Given the description of an element on the screen output the (x, y) to click on. 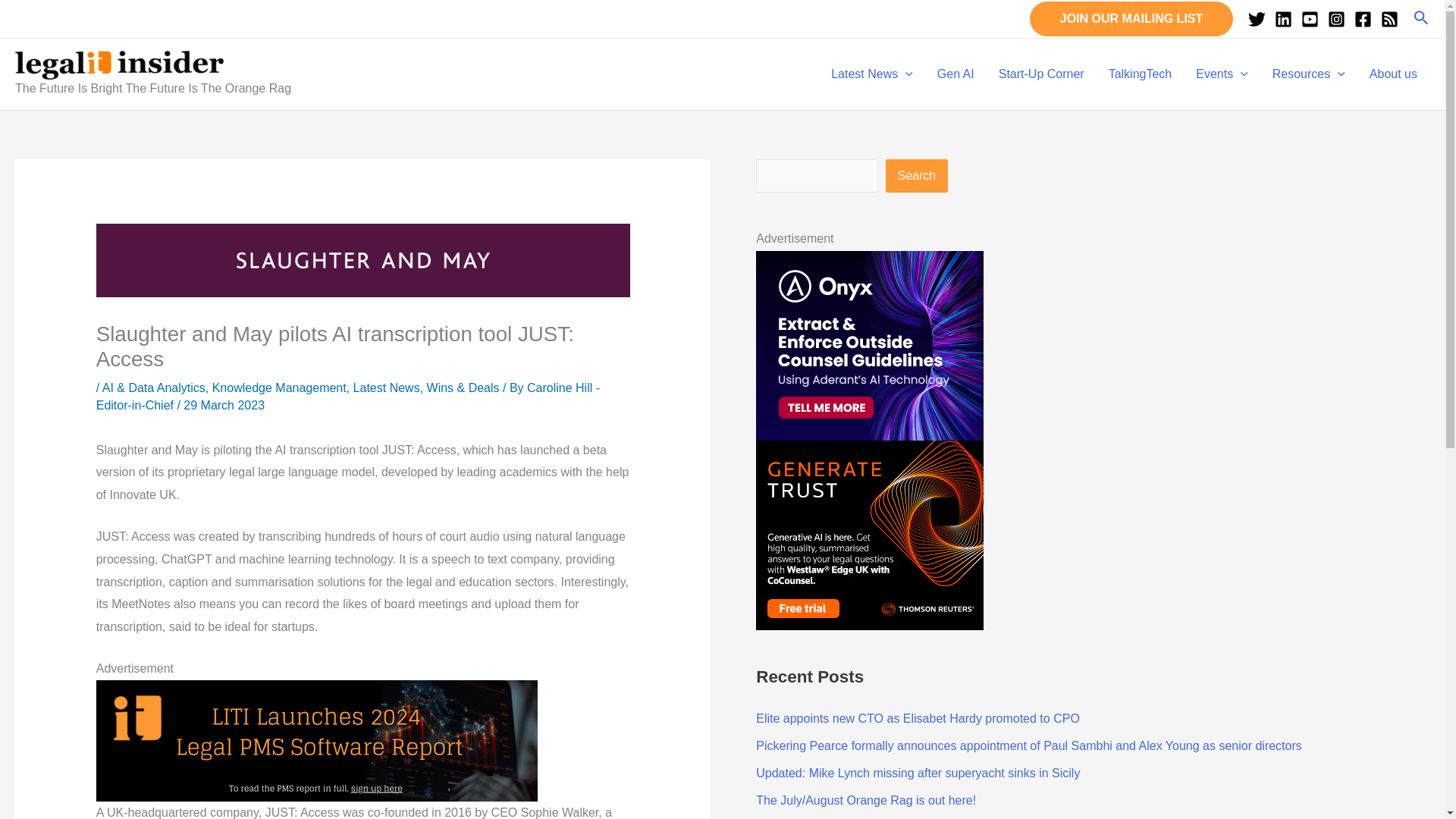
Latest News (871, 73)
JOIN OUR MAILING LIST (1131, 18)
View all posts by Caroline Hill - Editor-in-Chief (347, 396)
Start-Up Corner (1041, 73)
Resources (1308, 73)
Events (1221, 73)
TalkingTech (1140, 73)
Gen AI (955, 73)
